Given the description of an element on the screen output the (x, y) to click on. 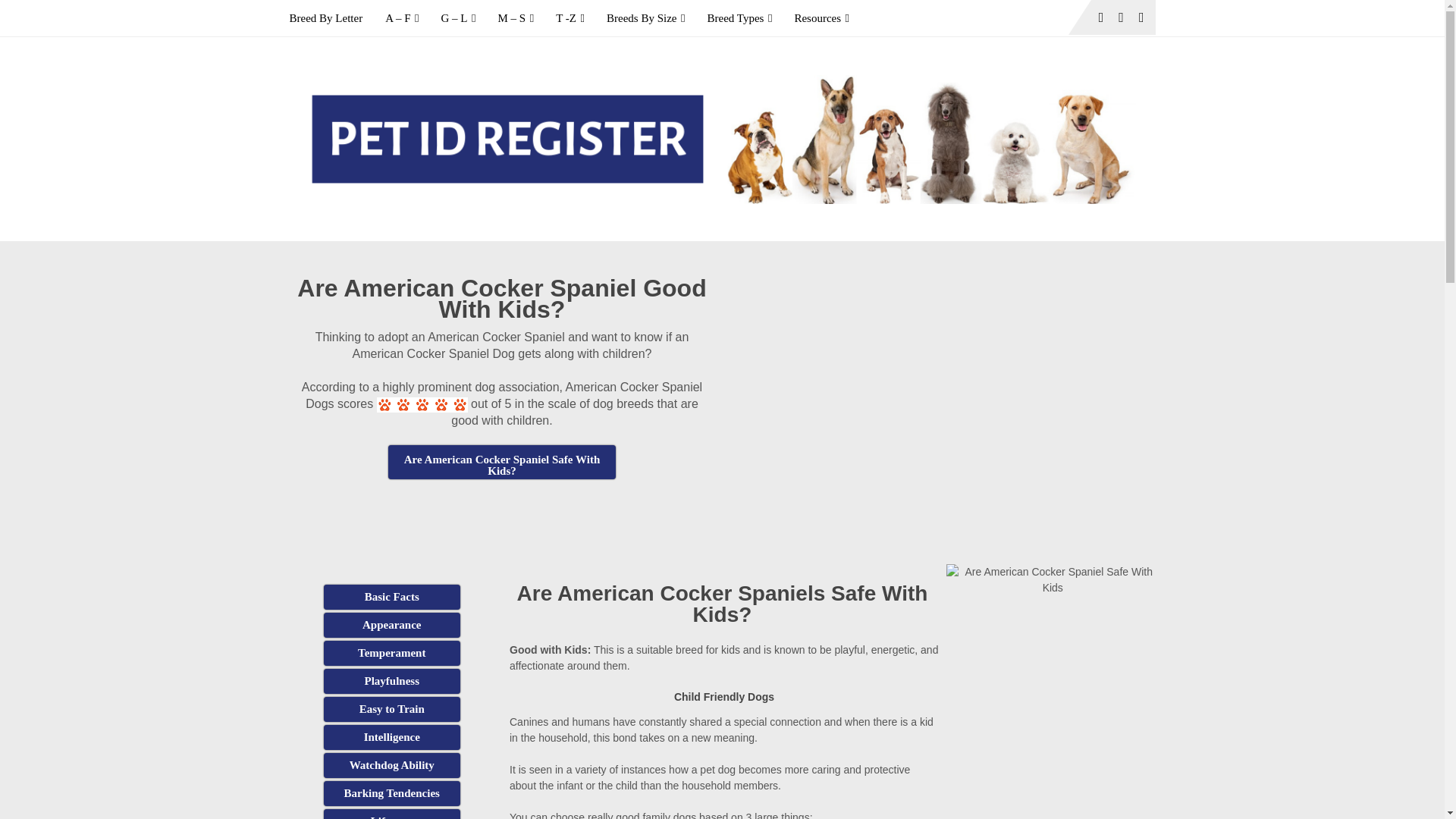
How does an American Cocker Spaniel Dog look like? (391, 625)
Breeds By Size (645, 18)
Resources (821, 18)
What are the temperaments of American Cocker Spaniel Dogs? (391, 652)
Do American Cocker Spaniel Dogs bark a lot? (391, 793)
Will American Cocker Spaniel Dogs make good guard dogs? (391, 765)
Are American Cocker Spaniel Dogs Easy to Train? (391, 708)
tooltip (501, 462)
T -Z (569, 18)
American Cocker Spaniel Dog Facts? (391, 596)
